Given the description of an element on the screen output the (x, y) to click on. 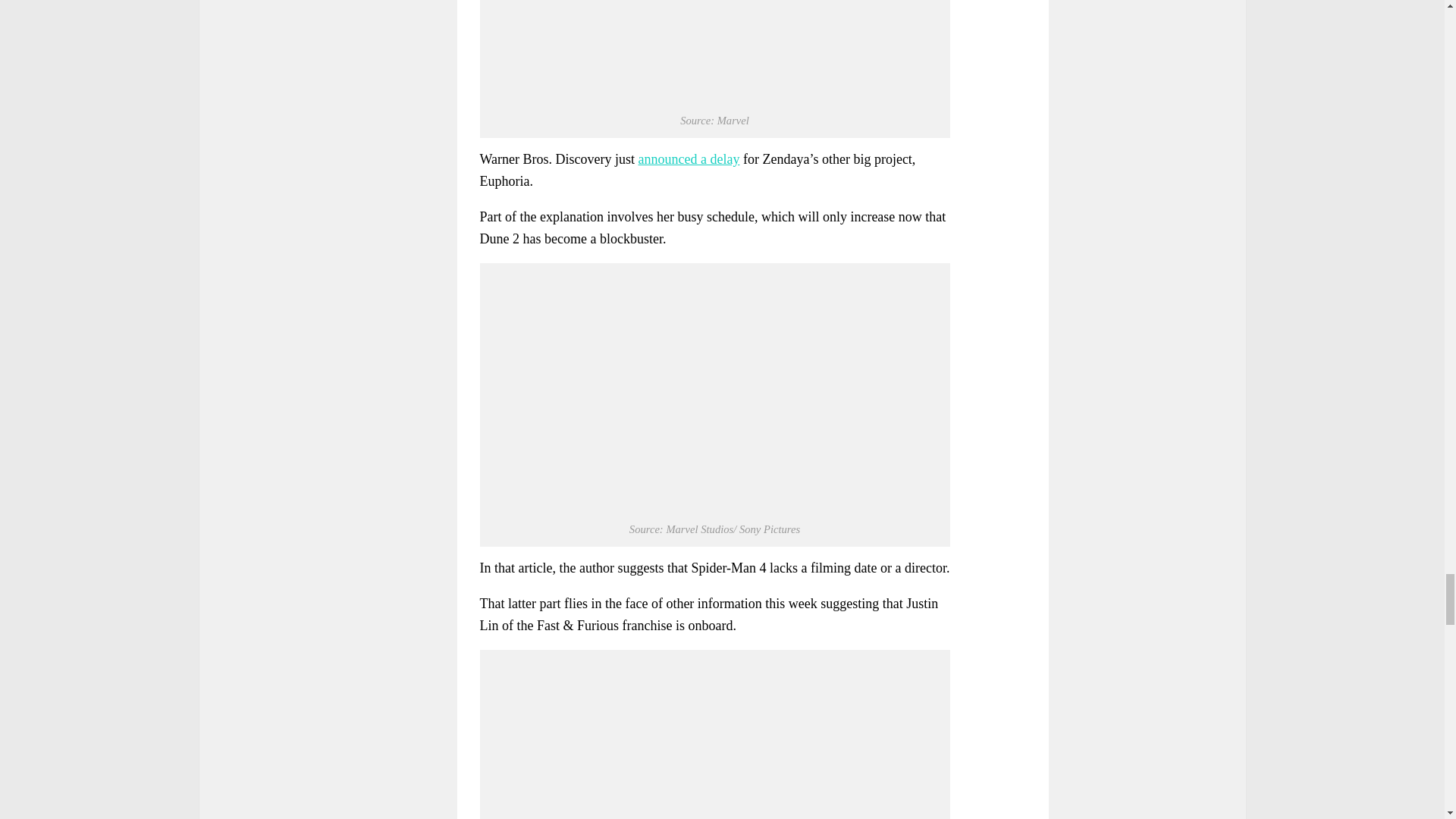
announced a delay (689, 159)
